Given the description of an element on the screen output the (x, y) to click on. 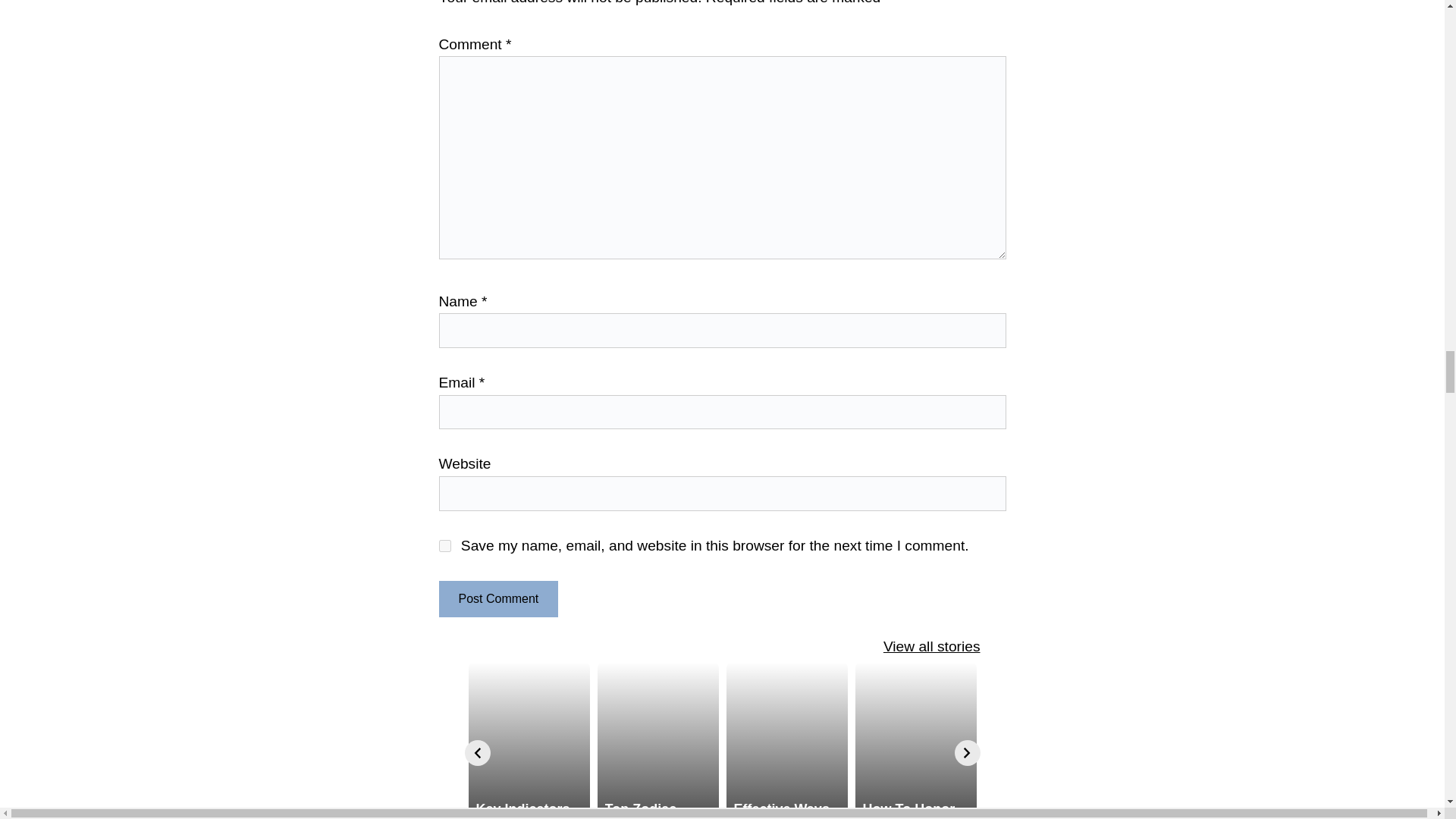
yes (443, 545)
Post Comment (497, 598)
